Given the description of an element on the screen output the (x, y) to click on. 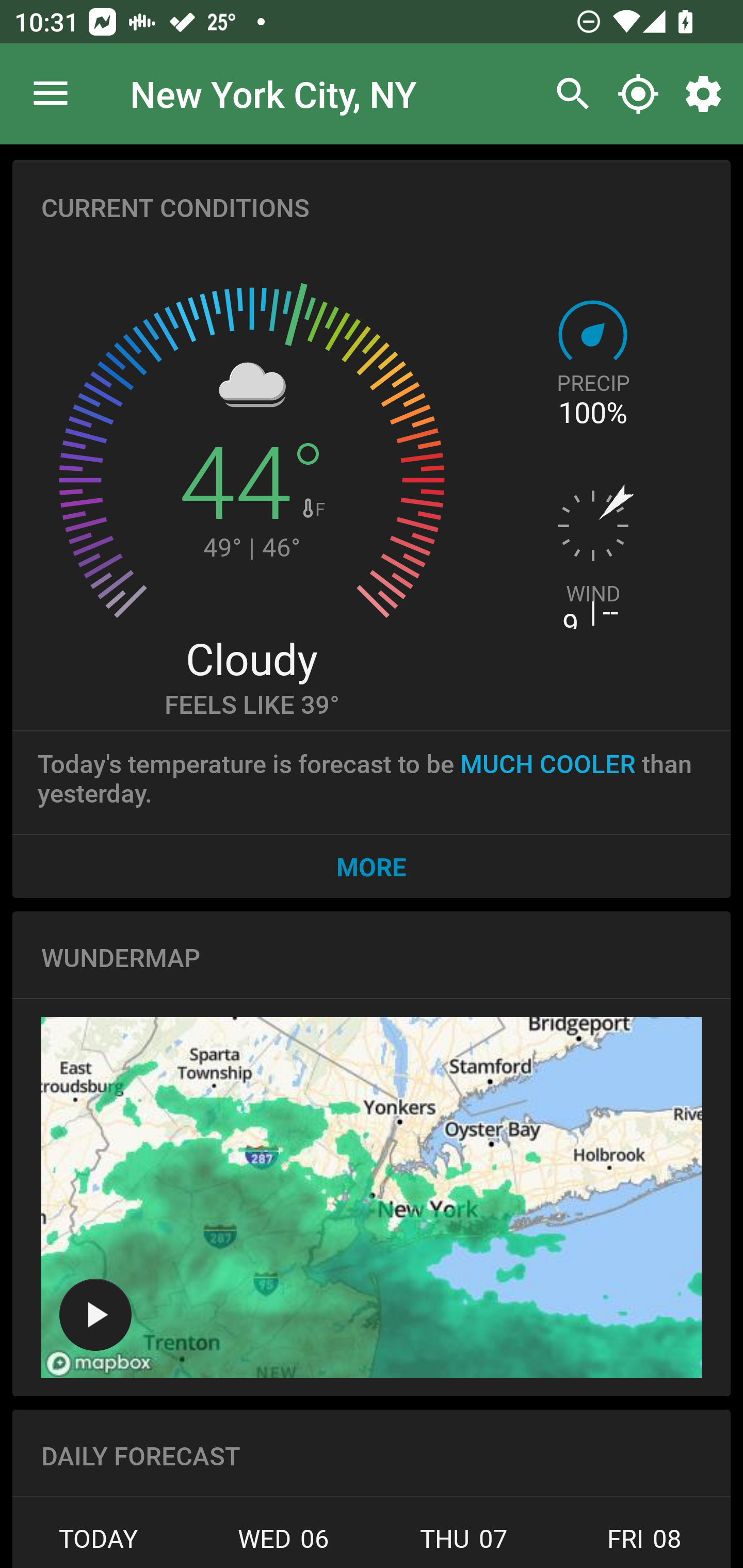
Press to open location manager. (50, 93)
Search for location (567, 94)
Select GPS location (637, 94)
Settings (706, 94)
New York City, NY (273, 92)
100% (592, 412)
Cloudy (251, 657)
MORE (371, 865)
Weather Map (371, 1197)
Weather Map (95, 1314)
TODAY (102, 1544)
WED 06 (283, 1544)
THU 07 (463, 1544)
FRI 08 (642, 1544)
